Given the description of an element on the screen output the (x, y) to click on. 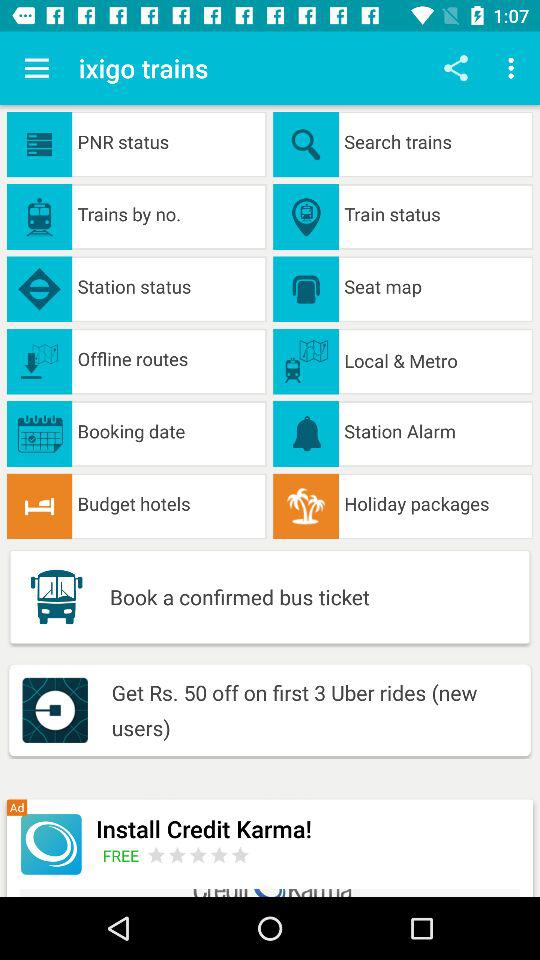
scroll to the install credit karma! (308, 828)
